Given the description of an element on the screen output the (x, y) to click on. 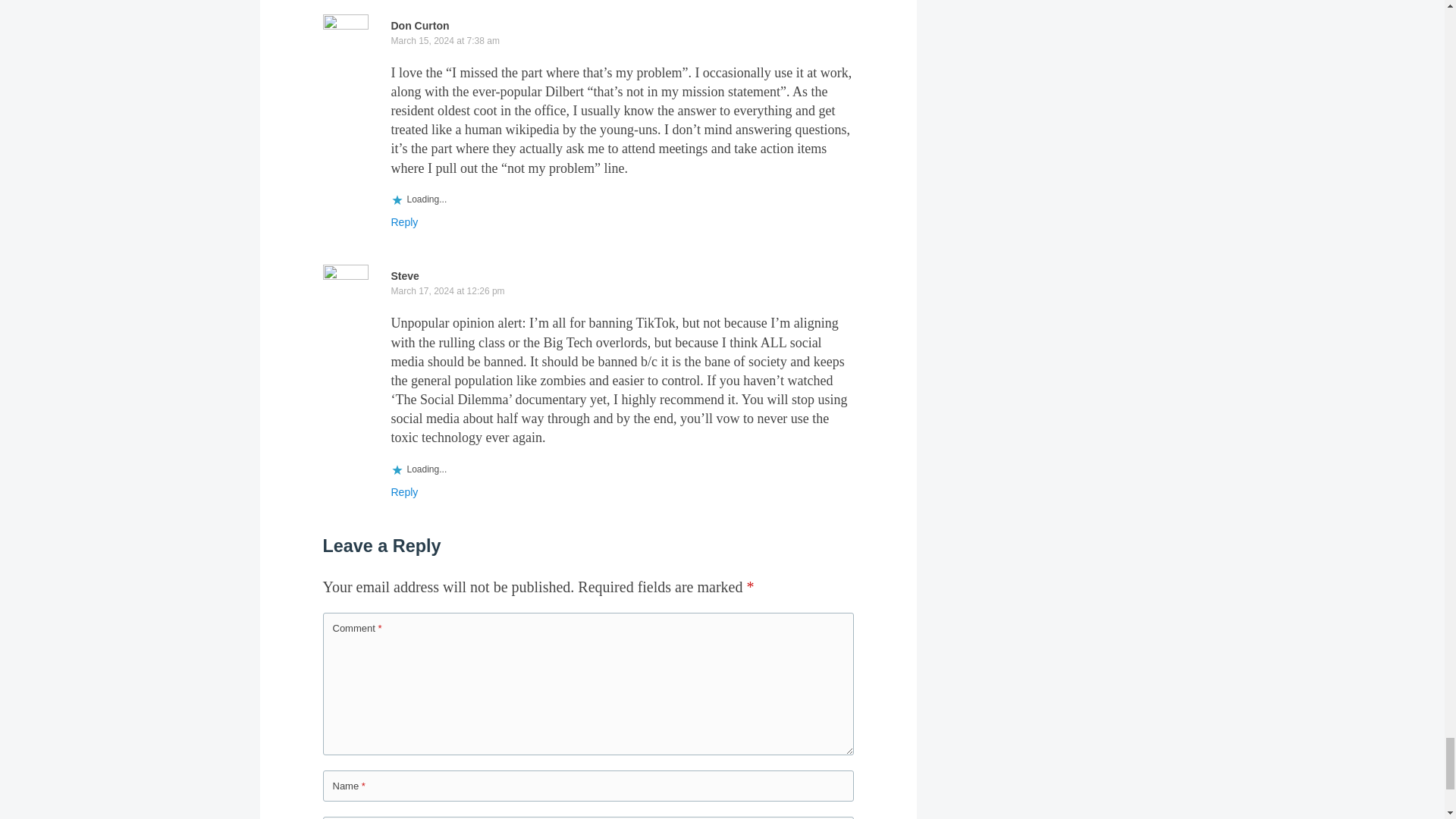
March 15, 2024 at 7:38 am (445, 40)
March 17, 2024 at 12:26 pm (448, 290)
Reply (405, 222)
